Given the description of an element on the screen output the (x, y) to click on. 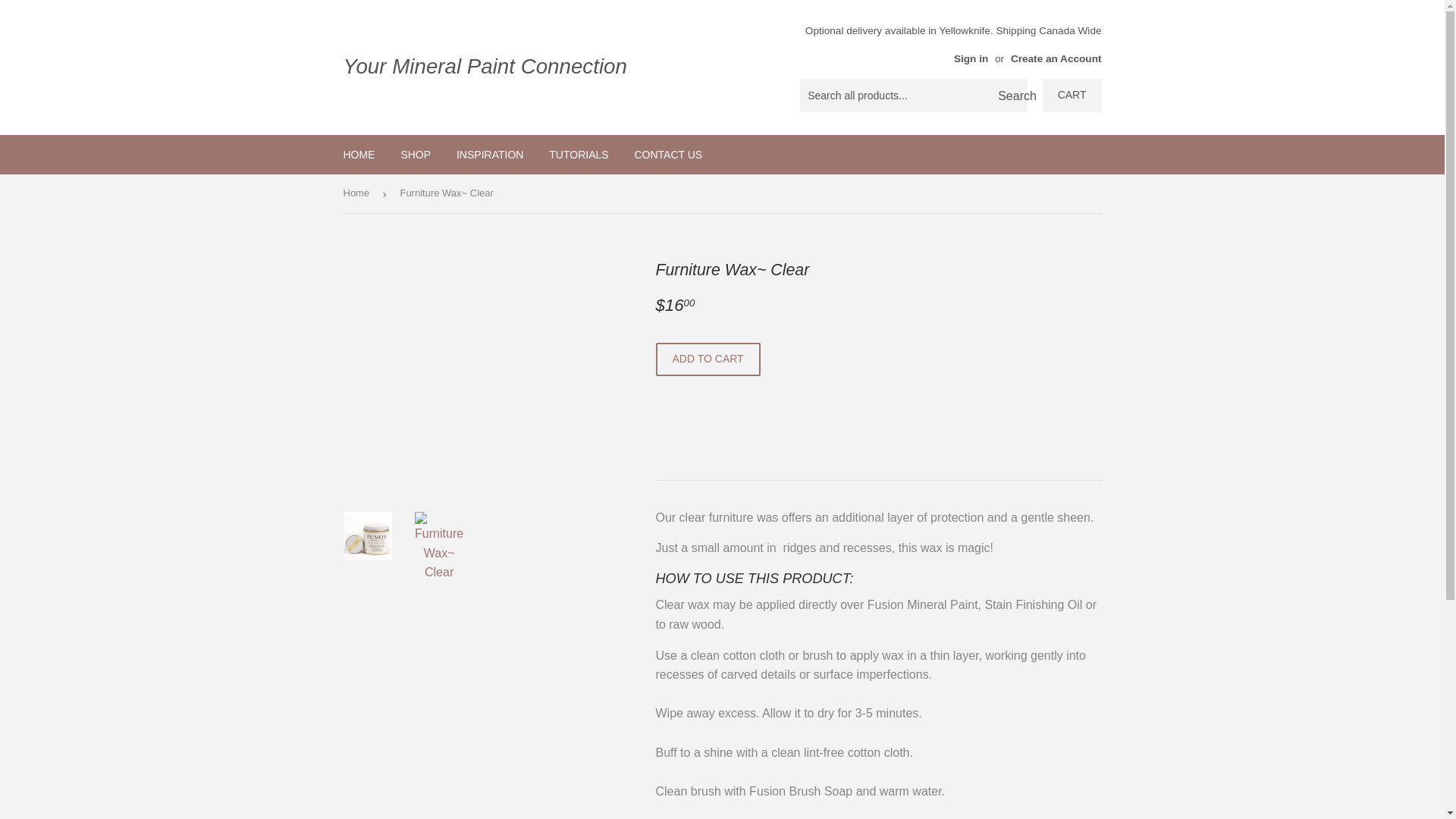
CART (1072, 95)
TUTORIALS (578, 154)
CONTACT US (668, 154)
ADD TO CART (707, 359)
HOME (359, 154)
Your Mineral Paint Connection (532, 66)
INSPIRATION (489, 154)
Search (1009, 96)
Create an Account (1056, 58)
Sign in (970, 58)
